Given the description of an element on the screen output the (x, y) to click on. 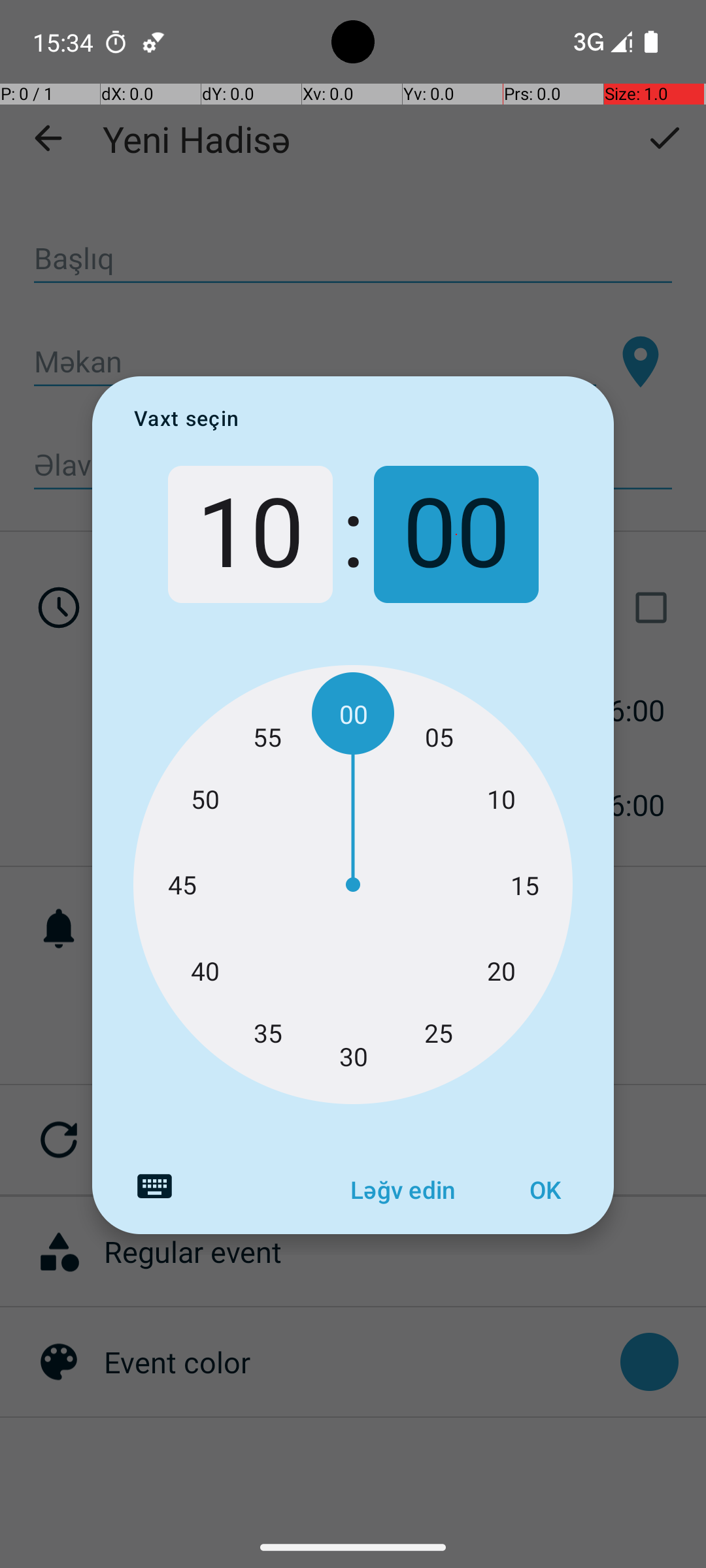
Zamanı daxil etmək üçün mətnlə daxiletmə rejiminə keçin Element type: android.widget.Button (154, 1186)
Ləğv edin Element type: android.widget.Button (402, 1189)
